Given the description of an element on the screen output the (x, y) to click on. 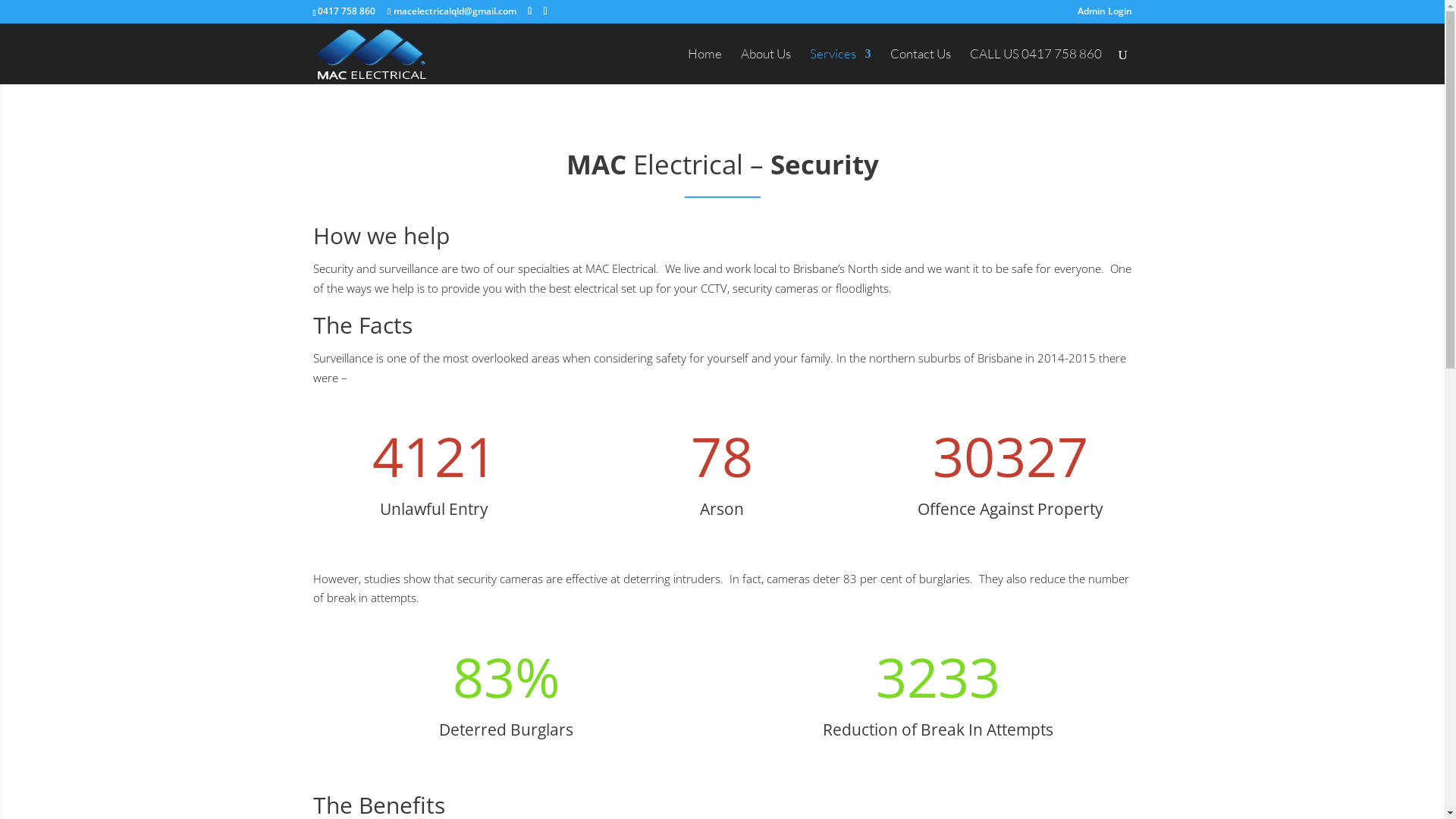
About Us Element type: text (765, 66)
Services Element type: text (840, 66)
Contact Us Element type: text (920, 66)
CALL US 0417 758 860 Element type: text (1035, 66)
0417 758 860 Element type: text (346, 10)
Admin Login Element type: text (1103, 14)
macelectricalqld@gmail.com Element type: text (451, 10)
Home Element type: text (704, 66)
